Given the description of an element on the screen output the (x, y) to click on. 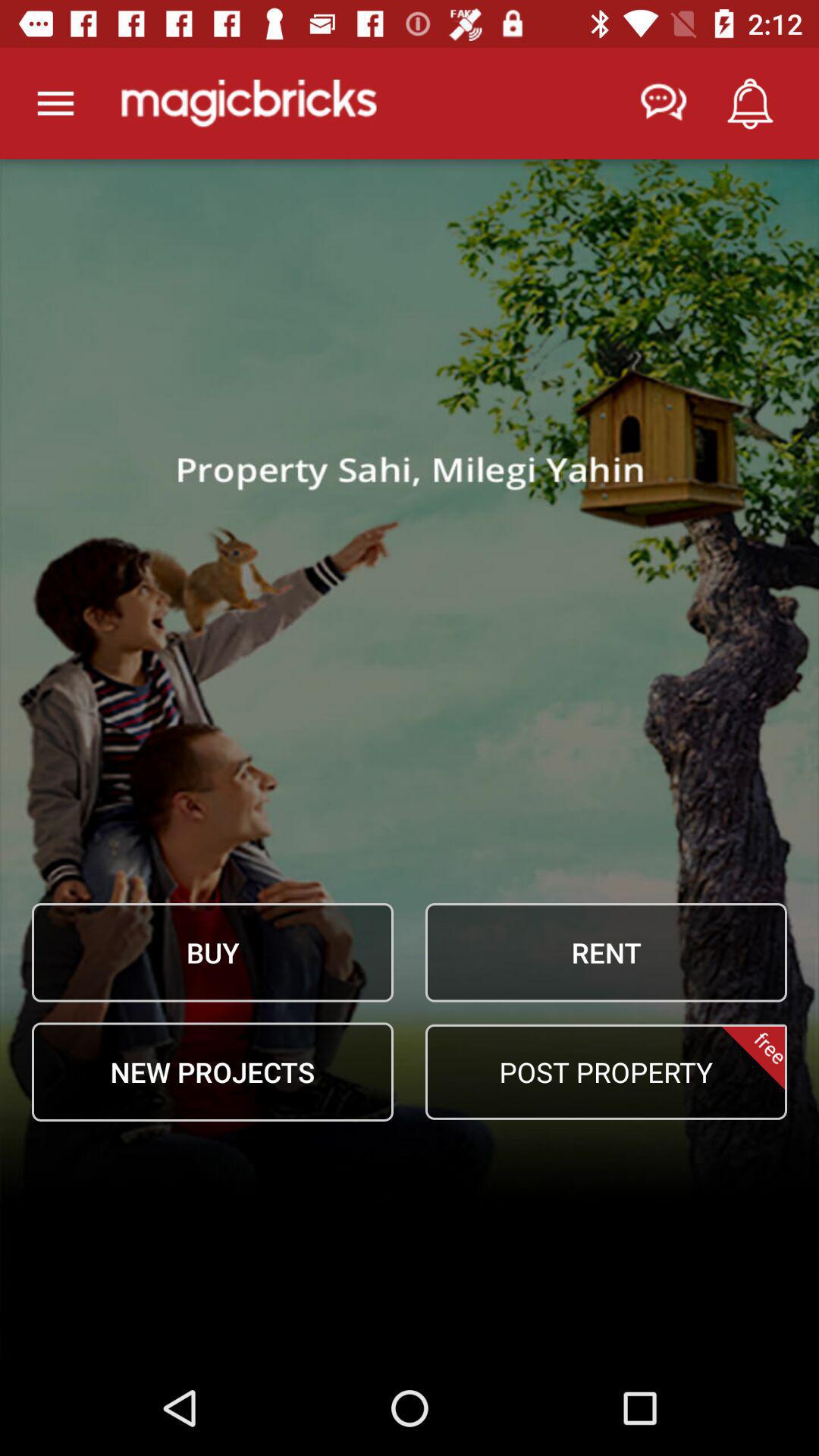
scroll until buy (212, 952)
